Given the description of an element on the screen output the (x, y) to click on. 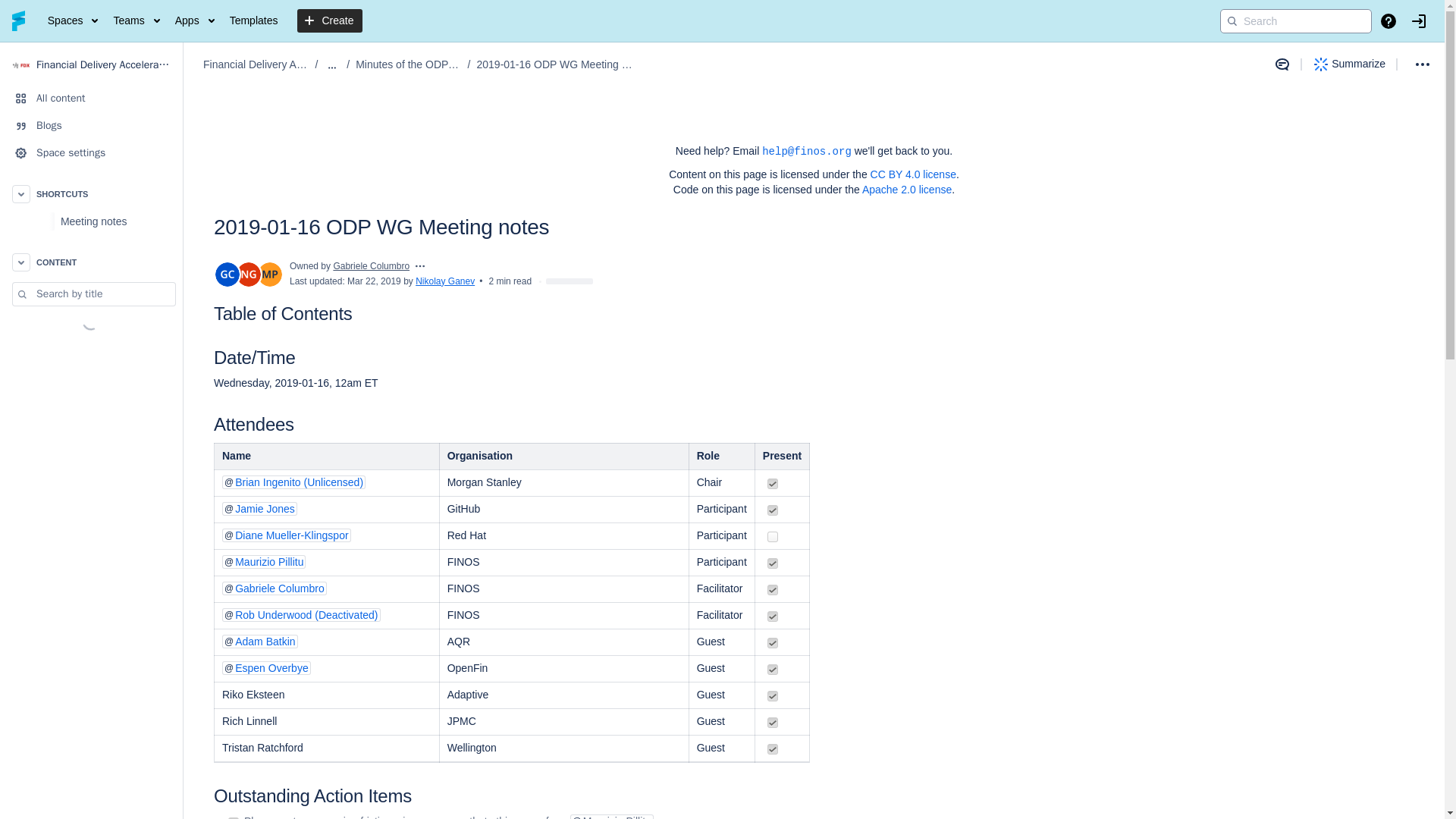
CONTENT (90, 262)
Summarize (1349, 63)
CC BY 4.0 license (913, 174)
Jamie Jones (259, 508)
Meeting notes (117, 221)
Teams (135, 21)
Create (329, 21)
Meeting notes (90, 221)
SHORTCUTS (90, 194)
Apps (194, 21)
